Given the description of an element on the screen output the (x, y) to click on. 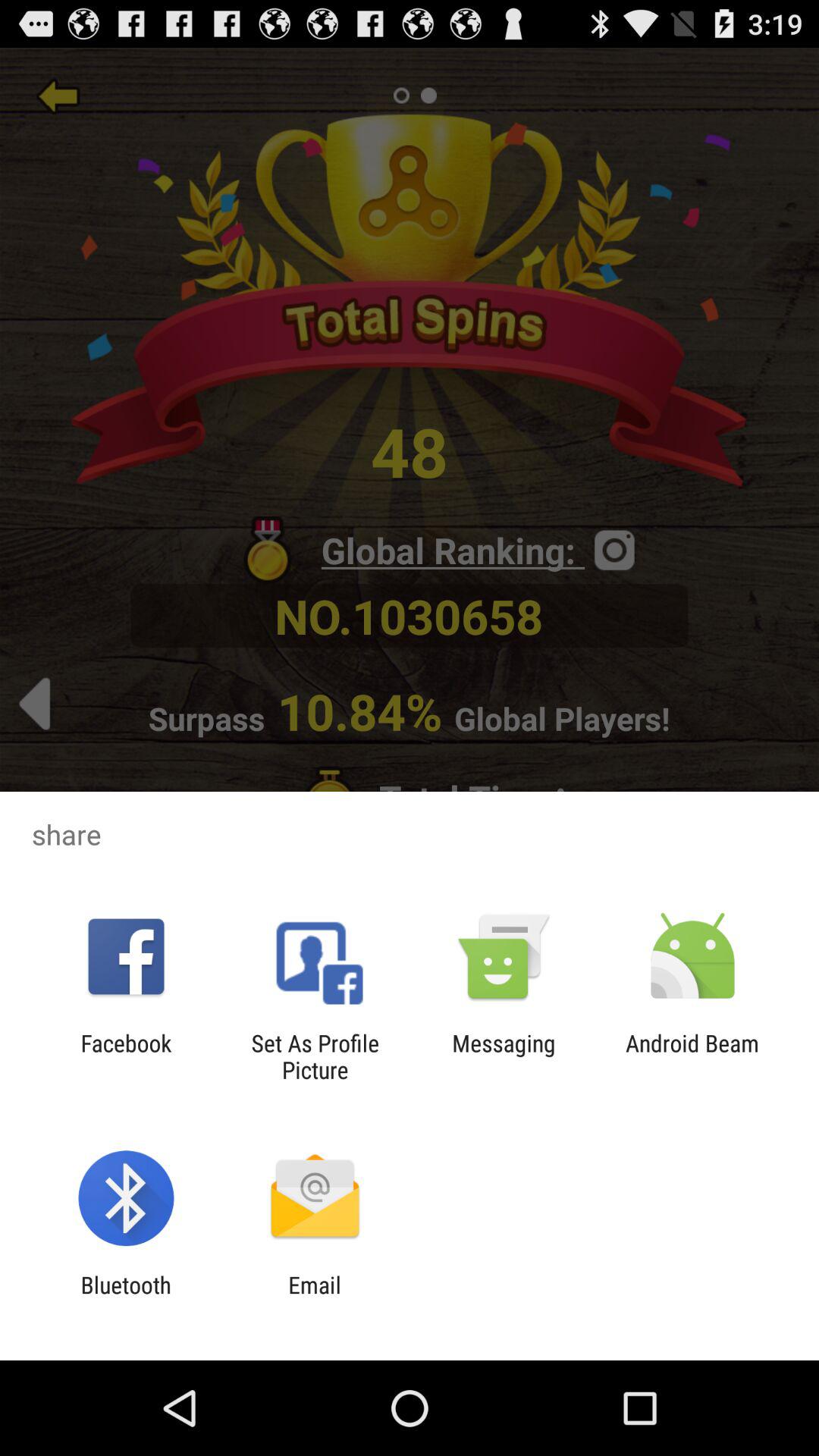
turn off the messaging (503, 1056)
